Given the description of an element on the screen output the (x, y) to click on. 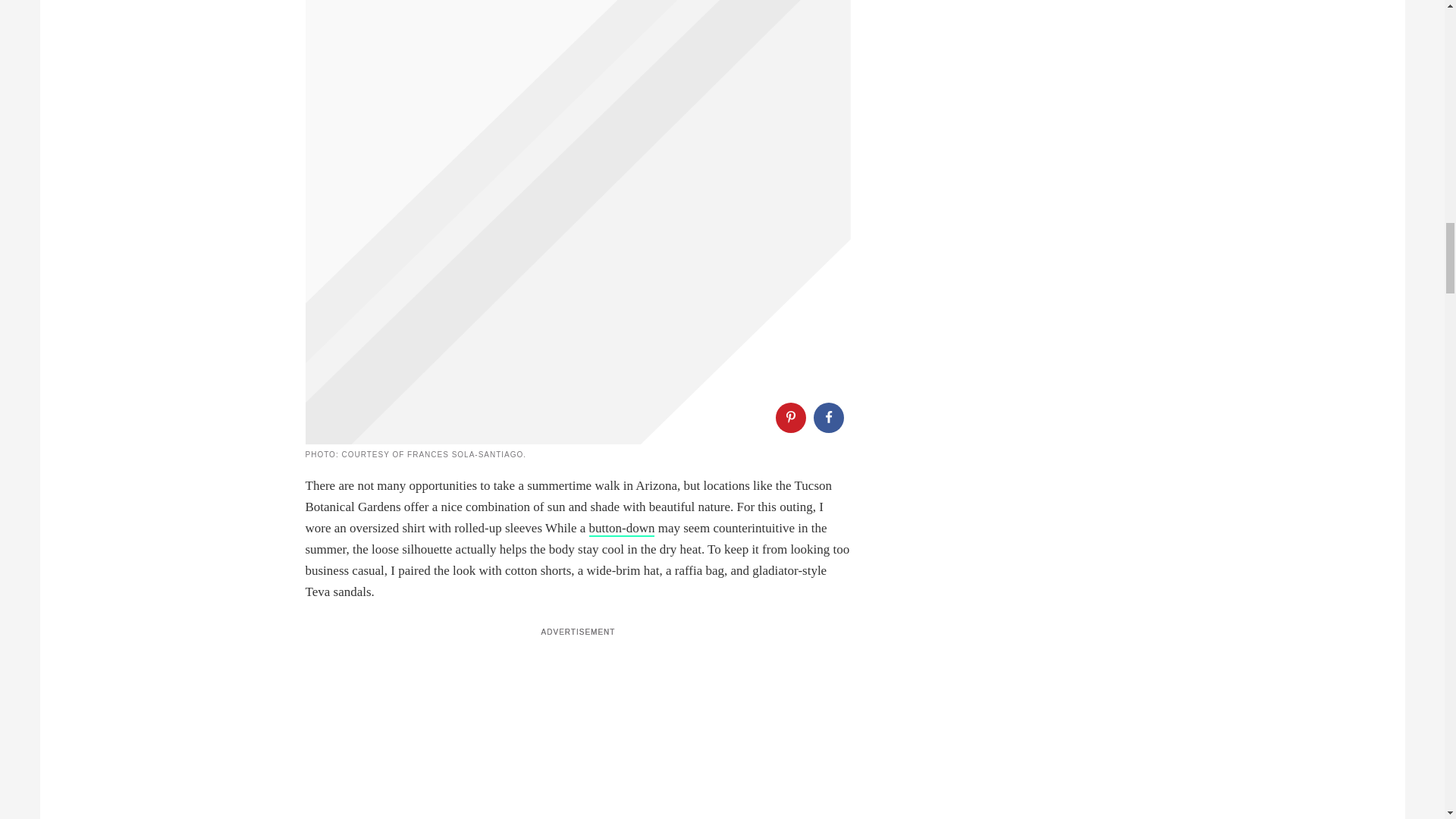
Share on Pinterest (789, 417)
